Given the description of an element on the screen output the (x, y) to click on. 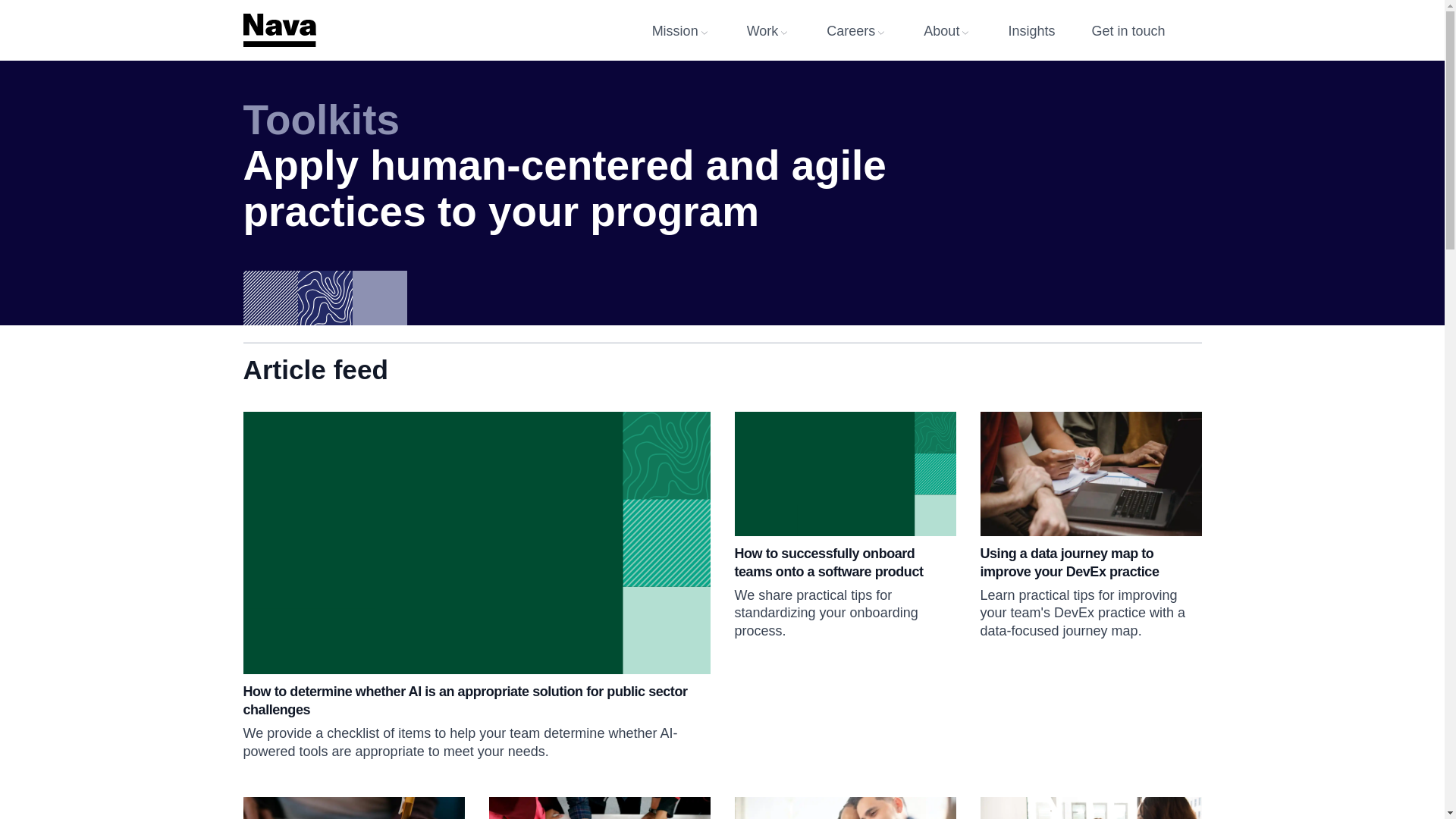
Get in touch (1145, 29)
Insights (1048, 29)
